Given the description of an element on the screen output the (x, y) to click on. 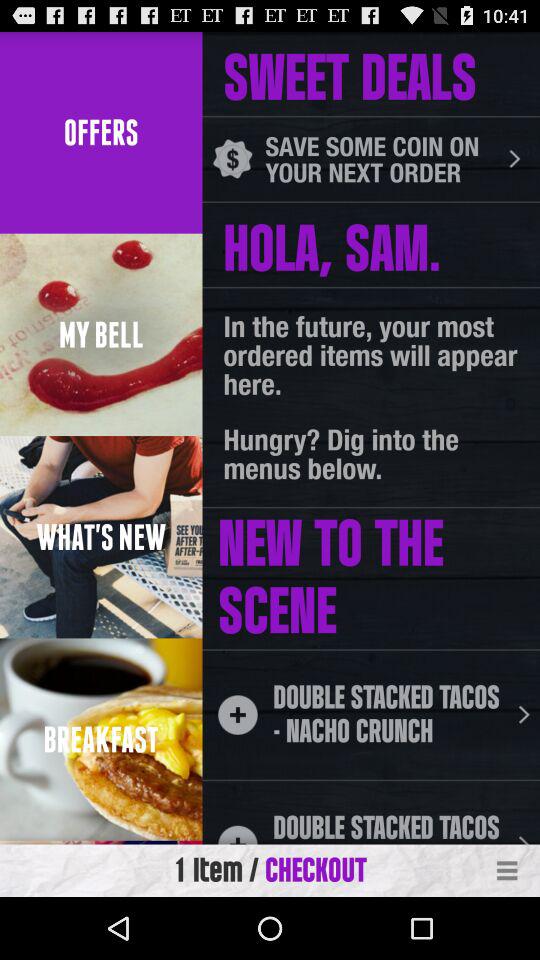
click on the icon right to the word  tacos  (523, 714)
click on the plus icon which is next to double stacked tacos nacho crunch (238, 715)
